Given the description of an element on the screen output the (x, y) to click on. 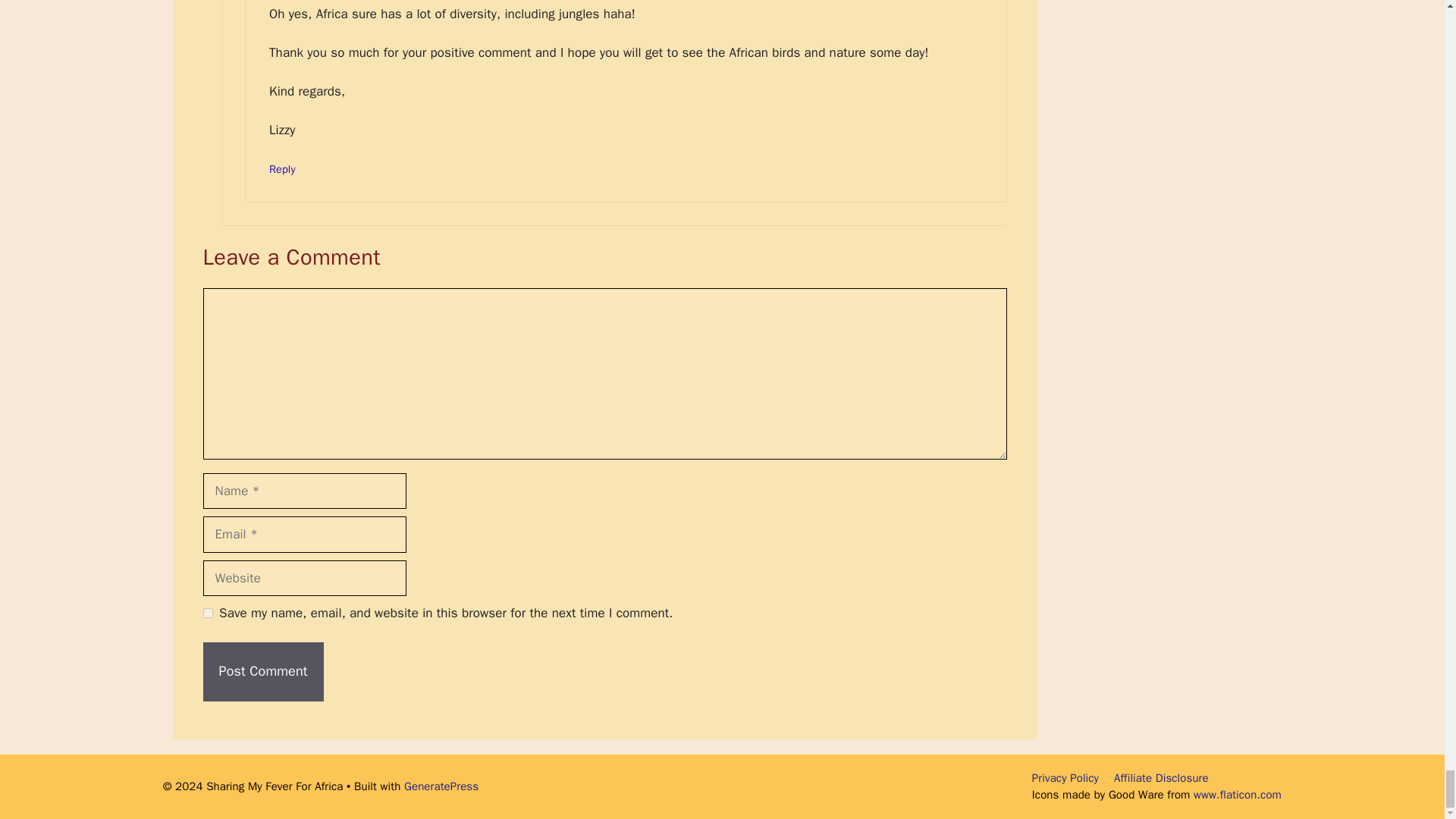
yes (207, 613)
Post Comment (263, 671)
